Given the description of an element on the screen output the (x, y) to click on. 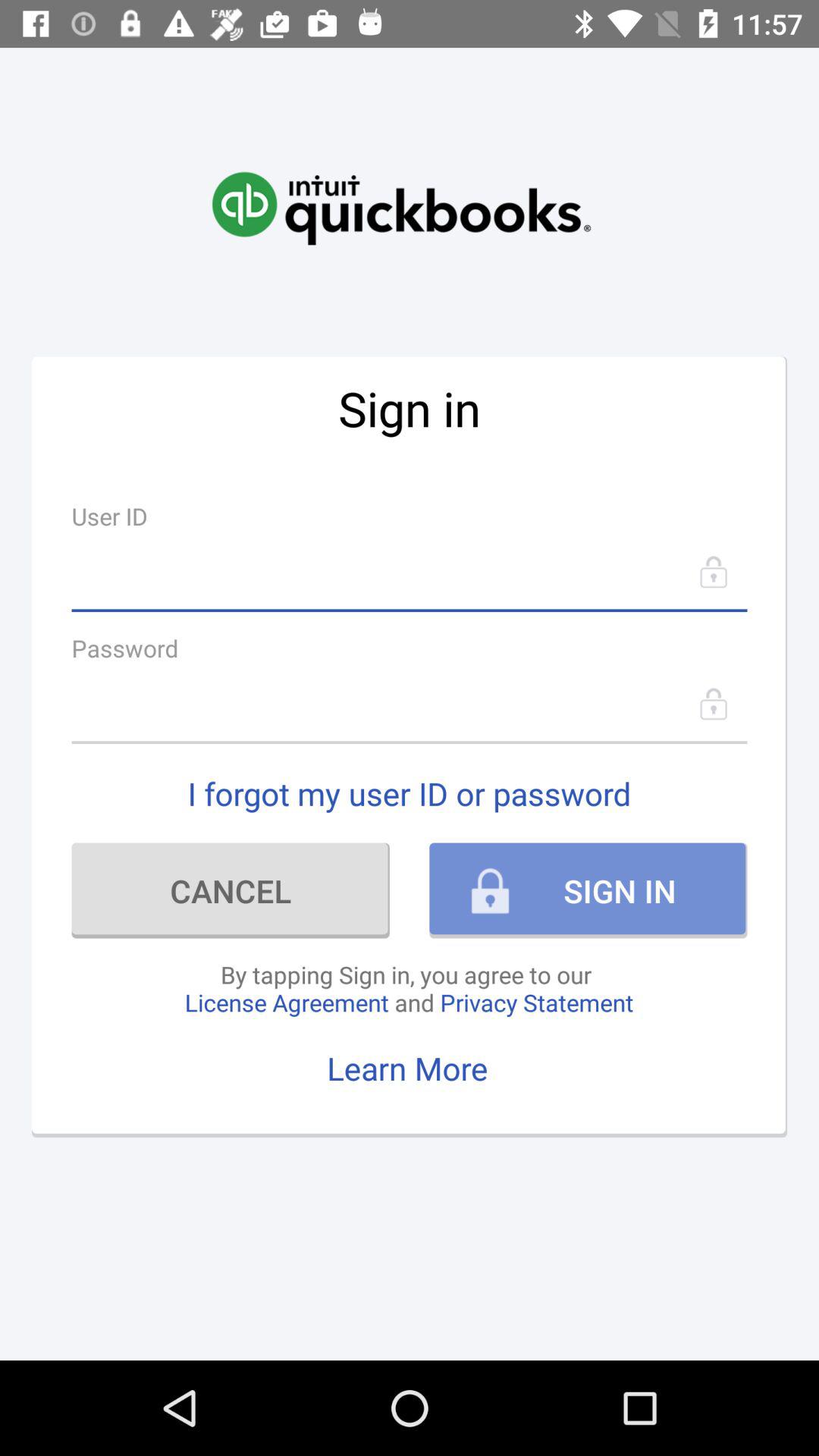
open item above password item (409, 571)
